Given the description of an element on the screen output the (x, y) to click on. 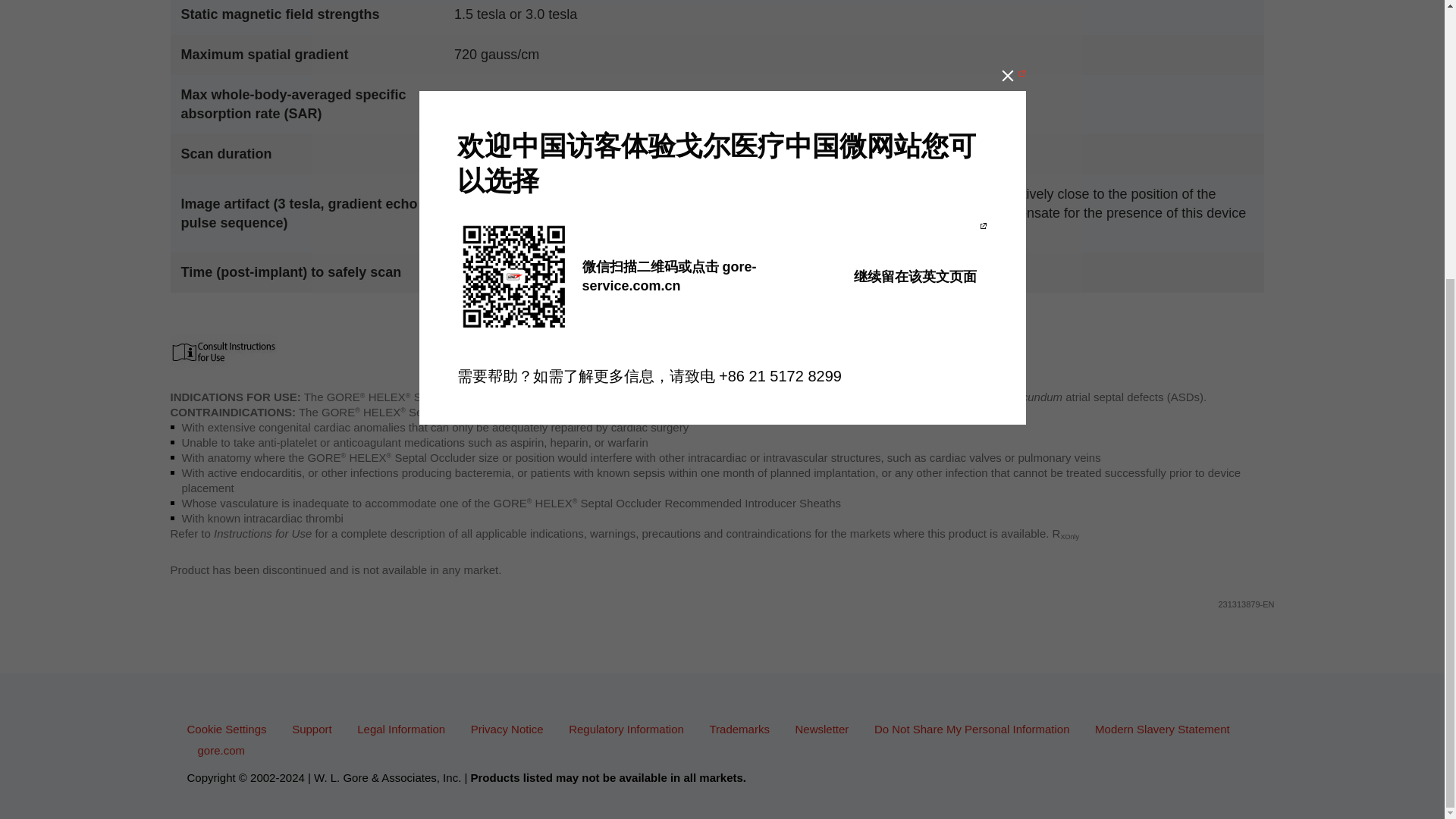
Modern Slavery Statement (1167, 728)
Support (317, 728)
Regulatory Information (631, 728)
Newsletter (826, 728)
Trademarks (743, 728)
Legal Information (405, 728)
Privacy Notice (512, 728)
Do Not Share My Personal Information (977, 728)
gore.com (226, 749)
Cookie Settings (231, 728)
